Given the description of an element on the screen output the (x, y) to click on. 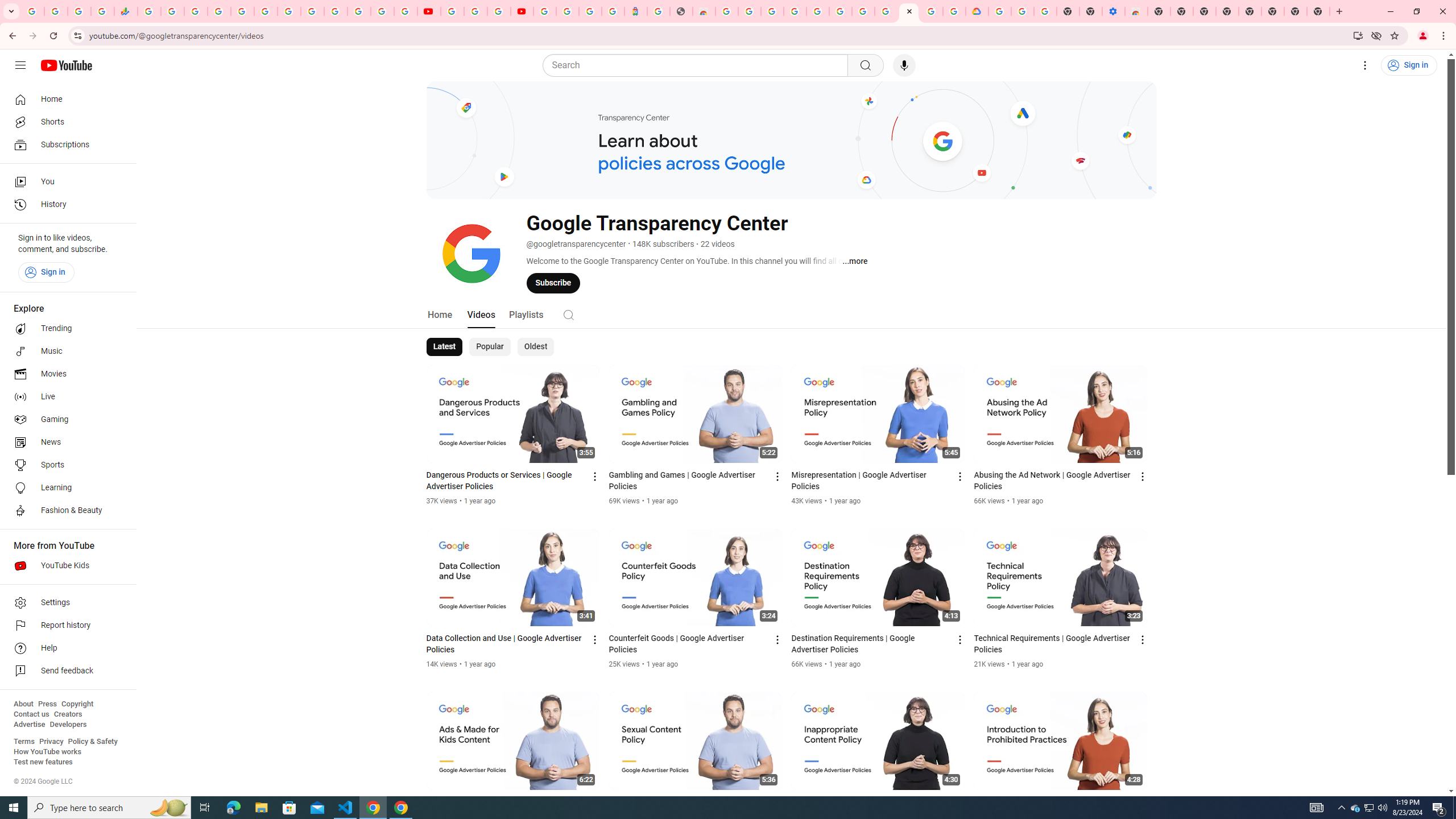
Google Workspace Admin Community (32, 11)
Settings (64, 602)
Contact us (31, 714)
New Tab (1318, 11)
Create your Google Account (749, 11)
About (23, 703)
Android TV Policies and Guidelines - Transparency Center (288, 11)
Android TV Policies and Guidelines - Transparency Center (885, 11)
Live (64, 396)
